Given the description of an element on the screen output the (x, y) to click on. 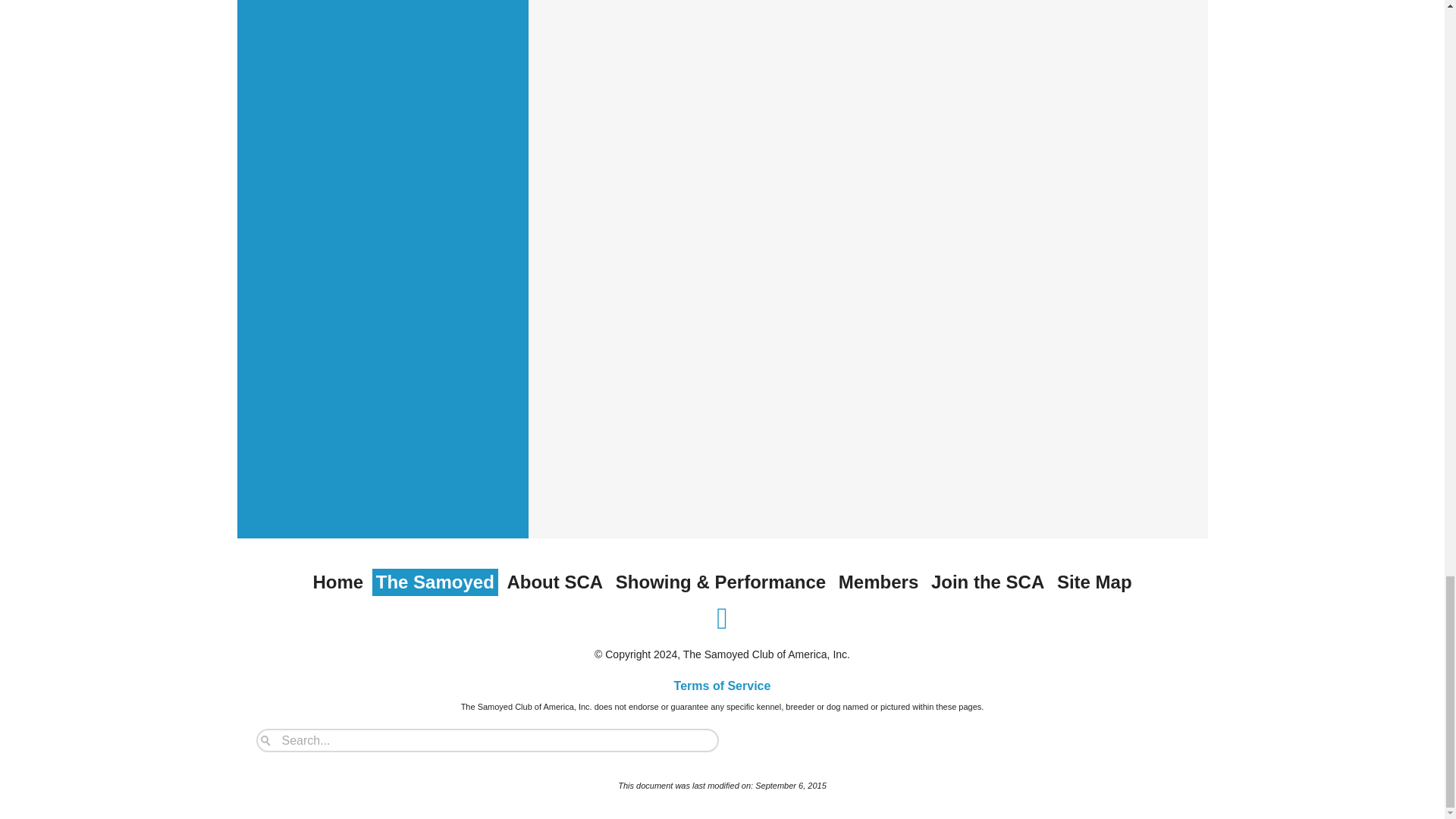
Home (337, 582)
The Samoyed (434, 582)
About SCA (554, 582)
Members (877, 582)
